Given the description of an element on the screen output the (x, y) to click on. 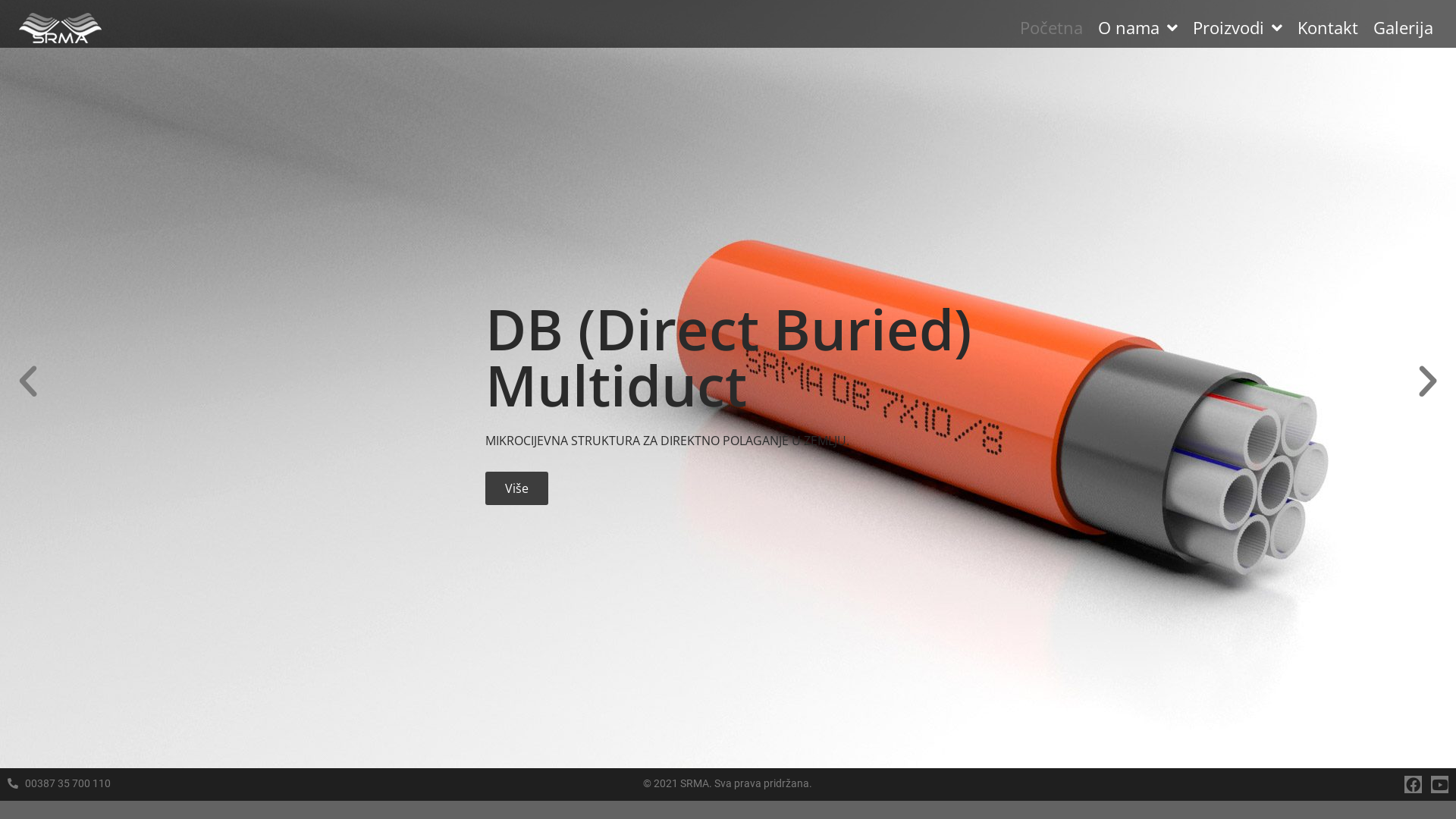
00387 35 700 110 Element type: text (242, 783)
Galerija Element type: text (1402, 27)
Proizvodi Element type: text (1237, 27)
O nama Element type: text (1137, 27)
Kontakt Element type: text (1327, 27)
